Given the description of an element on the screen output the (x, y) to click on. 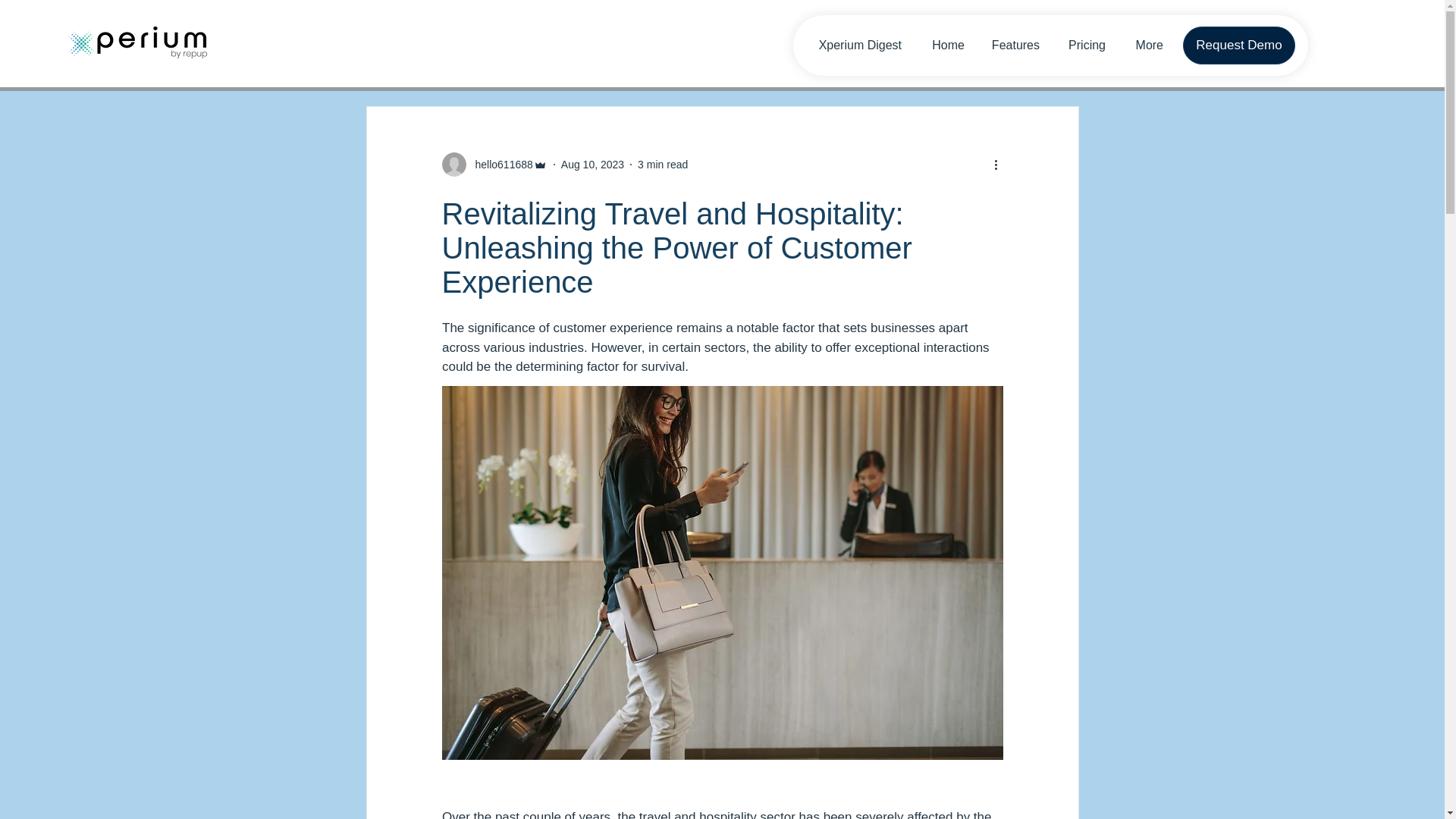
Xperium Digest (855, 44)
hello611688 (498, 163)
Home (943, 44)
3 min read (662, 163)
hello611688 (494, 164)
Aug 10, 2023 (592, 163)
Request Demo (1238, 45)
Features (1013, 44)
Pricing (1083, 44)
